Given the description of an element on the screen output the (x, y) to click on. 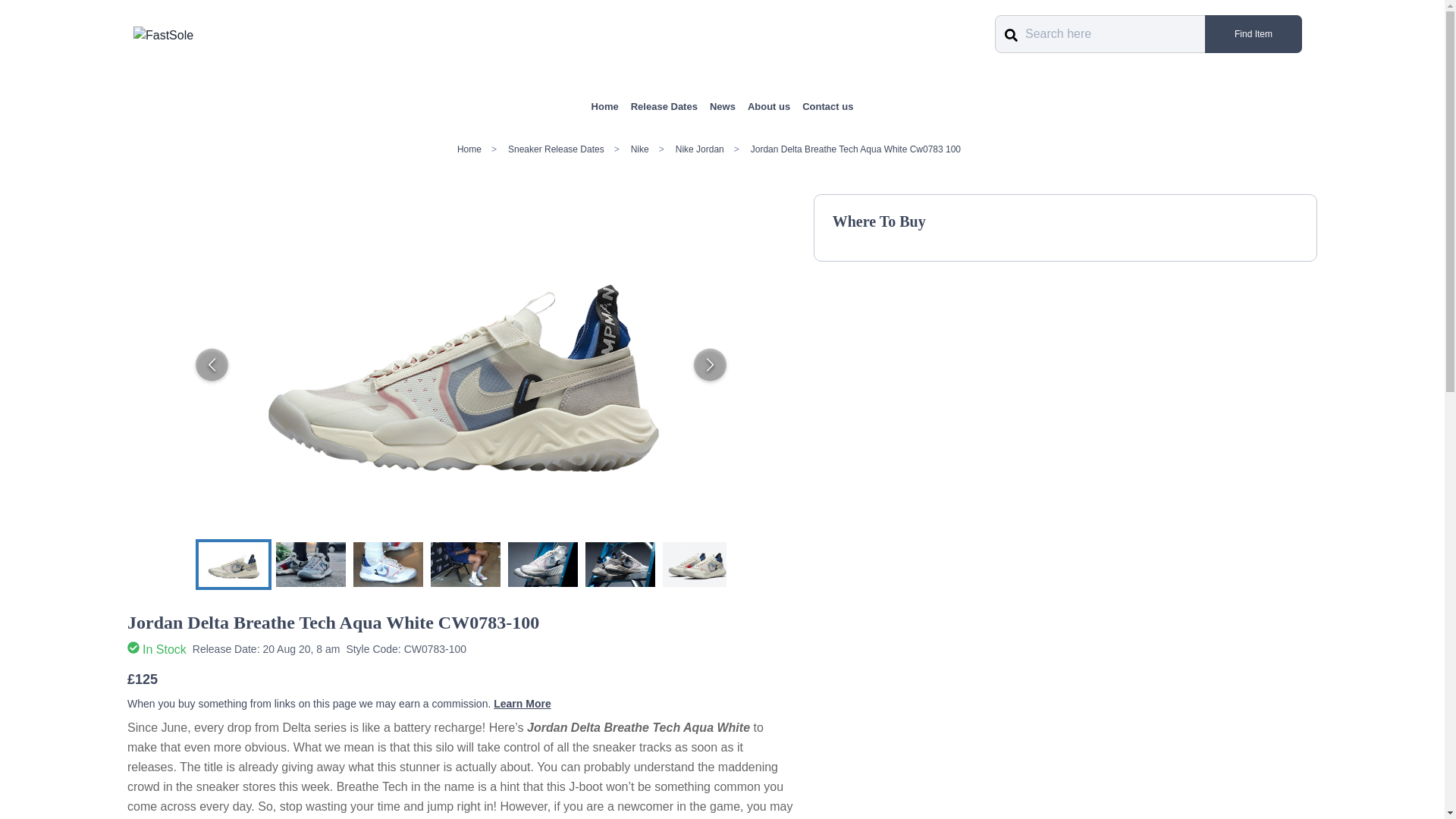
Jordan Delta Breathe Tech Aqua White CW0783-100 01 (232, 563)
Jordan Delta Breathe Tech Aqua White CW0783-100 04 (697, 563)
FastSole (163, 35)
Release Dates (663, 106)
Jordan Delta Breathe Tech Aqua White CW0783-100 on foot 01 (311, 563)
Jordan Delta Breathe Tech Aqua White CW0783-100 on foot 03 (465, 563)
Jordan Delta Breathe Tech Aqua White CW0783-100 03 (620, 563)
Home (604, 106)
Find Item (1253, 34)
Jordan Delta Breathe Tech Aqua White CW0783-100 02 (543, 563)
Jordan Delta Breathe Tech Aqua White CW0783-100 on foot 02 (388, 563)
